Given the description of an element on the screen output the (x, y) to click on. 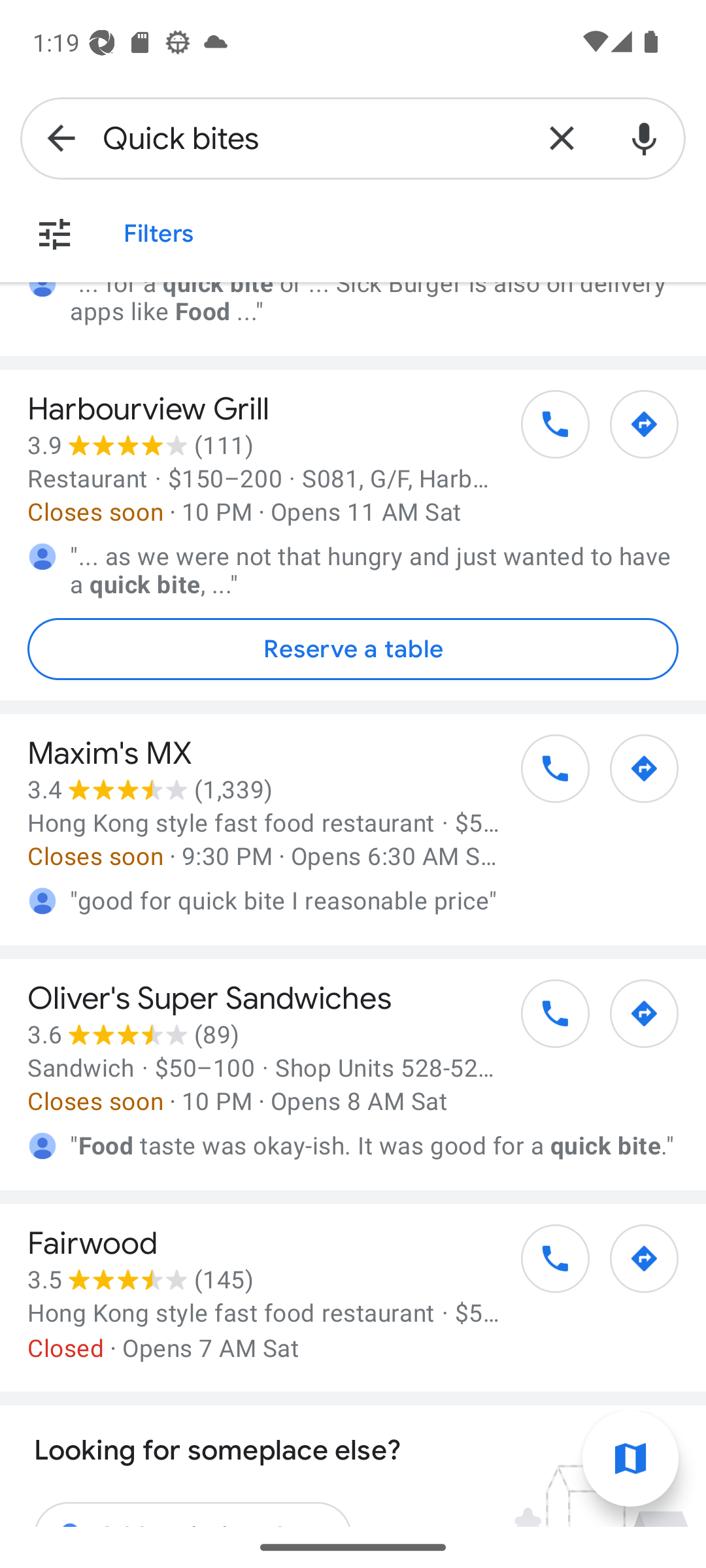
Back (61, 138)
Quick bites (311, 138)
Clear (562, 138)
Voice search (644, 138)
More filters (54, 233)
Filters Filters Filters (158, 233)
Reserve a table (352, 648)
Call Fairwood, 號 駿 景 廣場 G86-87 號 舖, 1 Tsun King Rd (544, 1265)
View map Map view (630, 1458)
